Given the description of an element on the screen output the (x, y) to click on. 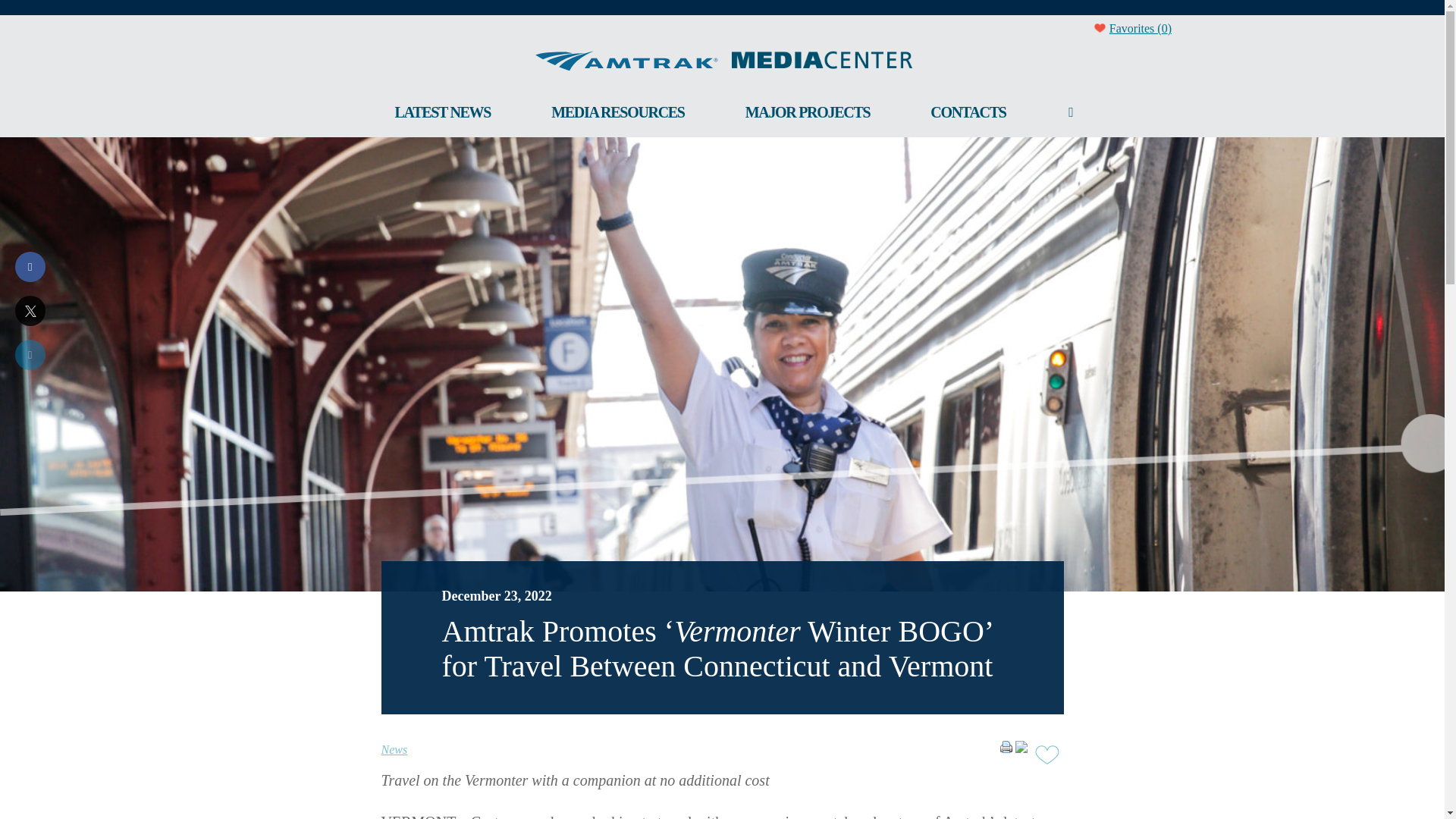
Print This Post (1004, 746)
Share on LinkedIn (29, 365)
Print This Post (1004, 759)
CONTACTS (967, 112)
LATEST NEWS (442, 112)
MEDIA RESOURCES (617, 112)
Share on Facebook (29, 277)
MAJOR PROJECTS (807, 112)
search (1071, 111)
Share on Twitter (29, 321)
